Given the description of an element on the screen output the (x, y) to click on. 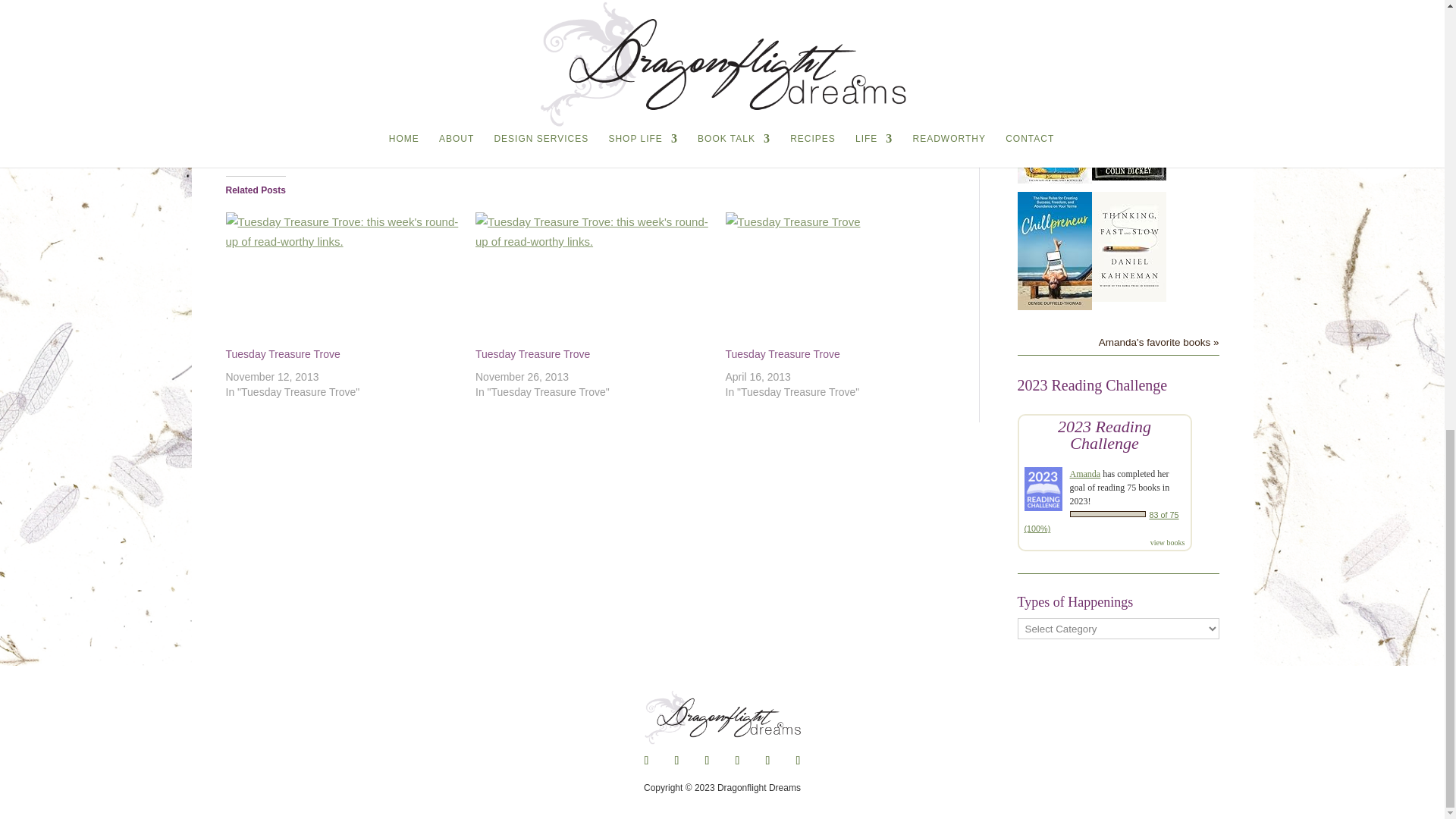
Follow on Facebook (645, 760)
Tuesday Treasure Trove (593, 279)
Follow on X (675, 760)
Tuesday Treasure Trove (343, 279)
Tuesday Treasure Trove (282, 354)
Tuesday Treasure Trove (782, 354)
dd-new-logo (722, 717)
Tuesday Treasure Trove (532, 354)
Cloud Cuckoo Land (1054, 178)
Tuesday Treasure Trove (842, 279)
Ghostland: An American History in Haunted Places (1129, 175)
Thinking, Fast and Slow (1129, 297)
